Given the description of an element on the screen output the (x, y) to click on. 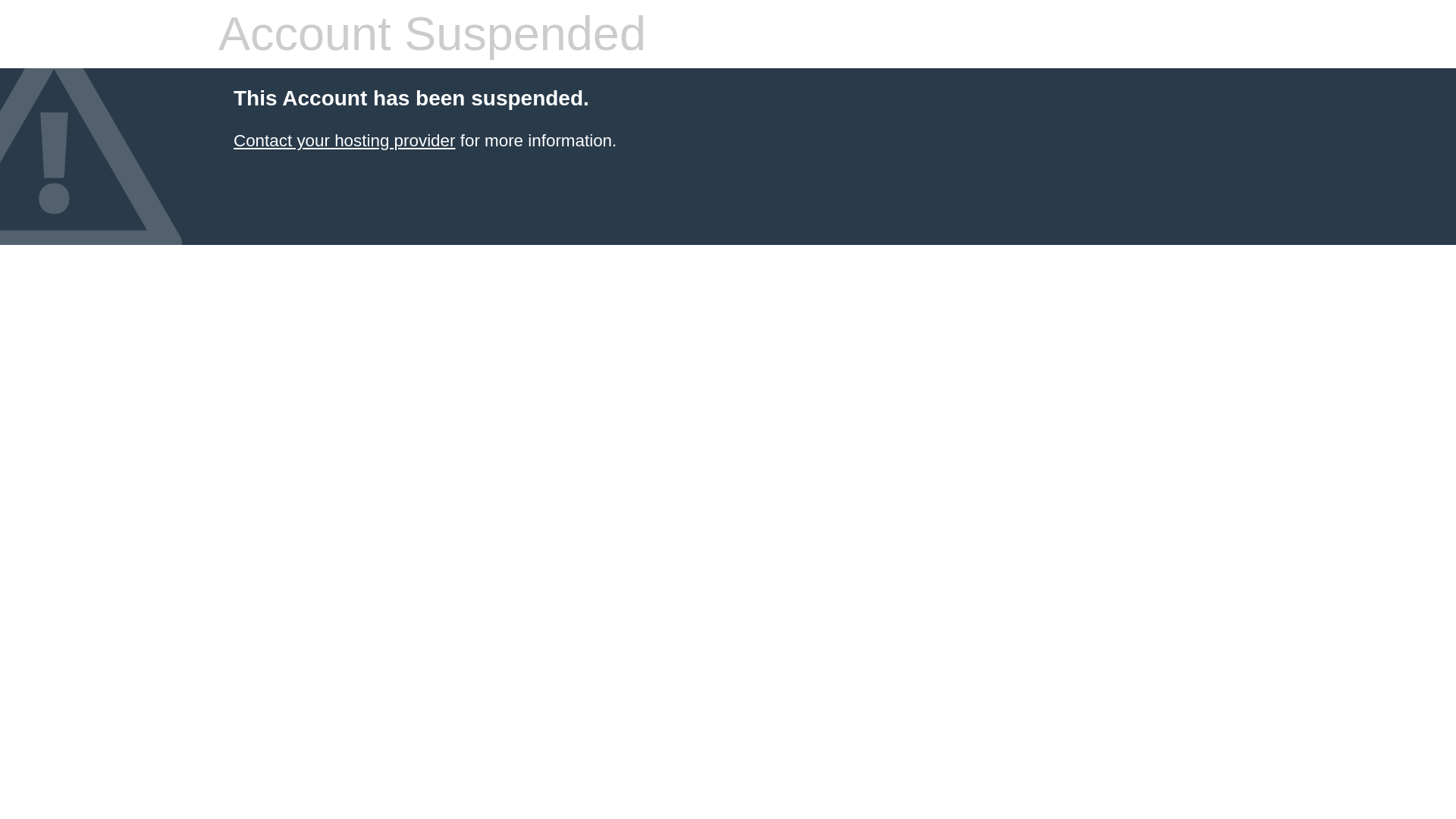
Contact your hosting provider (343, 140)
